Given the description of an element on the screen output the (x, y) to click on. 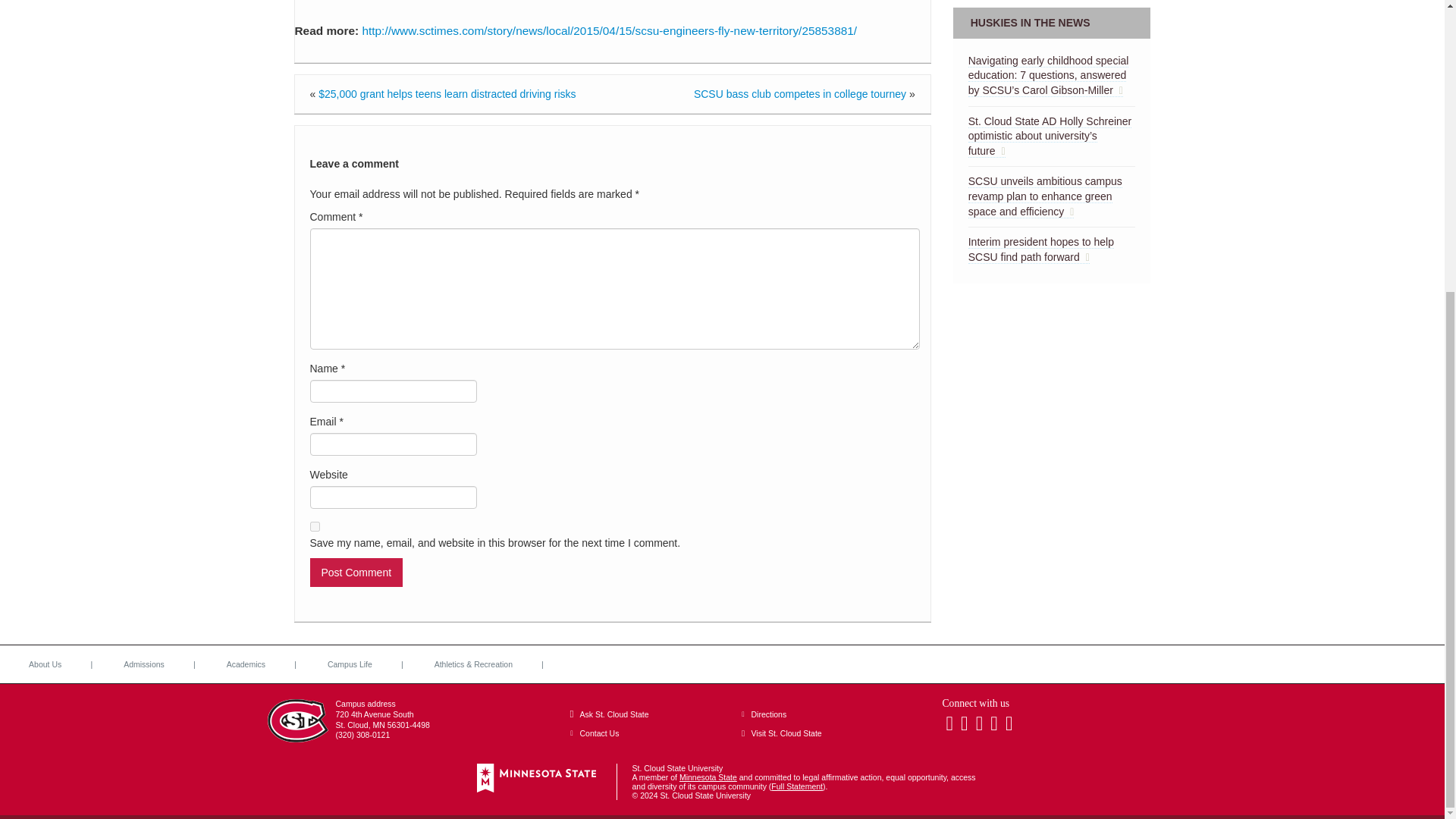
yes (313, 526)
Post Comment (355, 572)
